Given the description of an element on the screen output the (x, y) to click on. 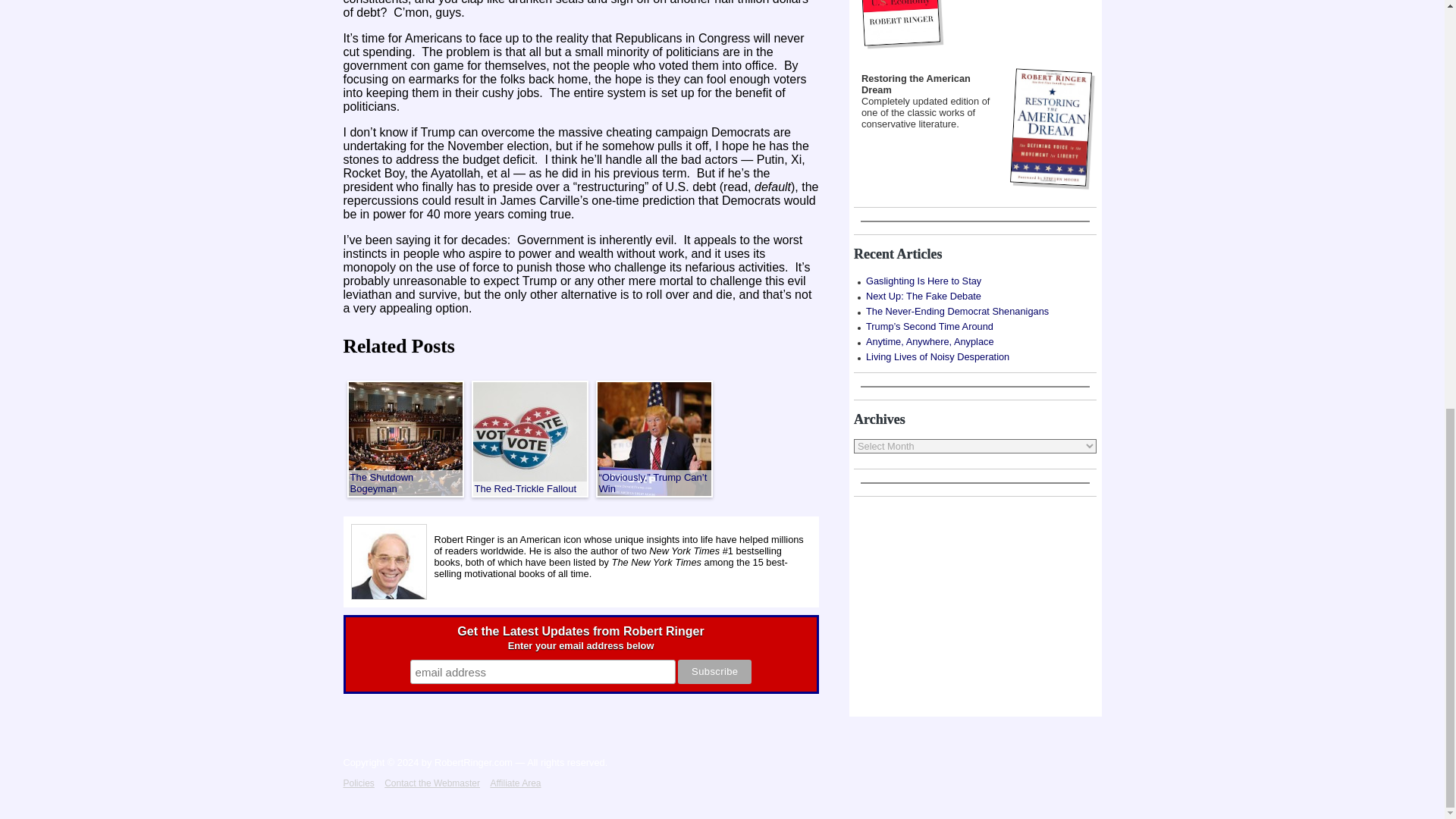
The Shutdown Bogeyman (405, 438)
The Shutdown Bogeyman (405, 438)
Subscribe (714, 671)
The Red-Trickle Fallout (529, 438)
Next Up: The Fake Debate (974, 296)
The Red-Trickle Fallout (529, 438)
Gaslighting Is Here to Stay (974, 280)
Subscribe (714, 671)
